Given the description of an element on the screen output the (x, y) to click on. 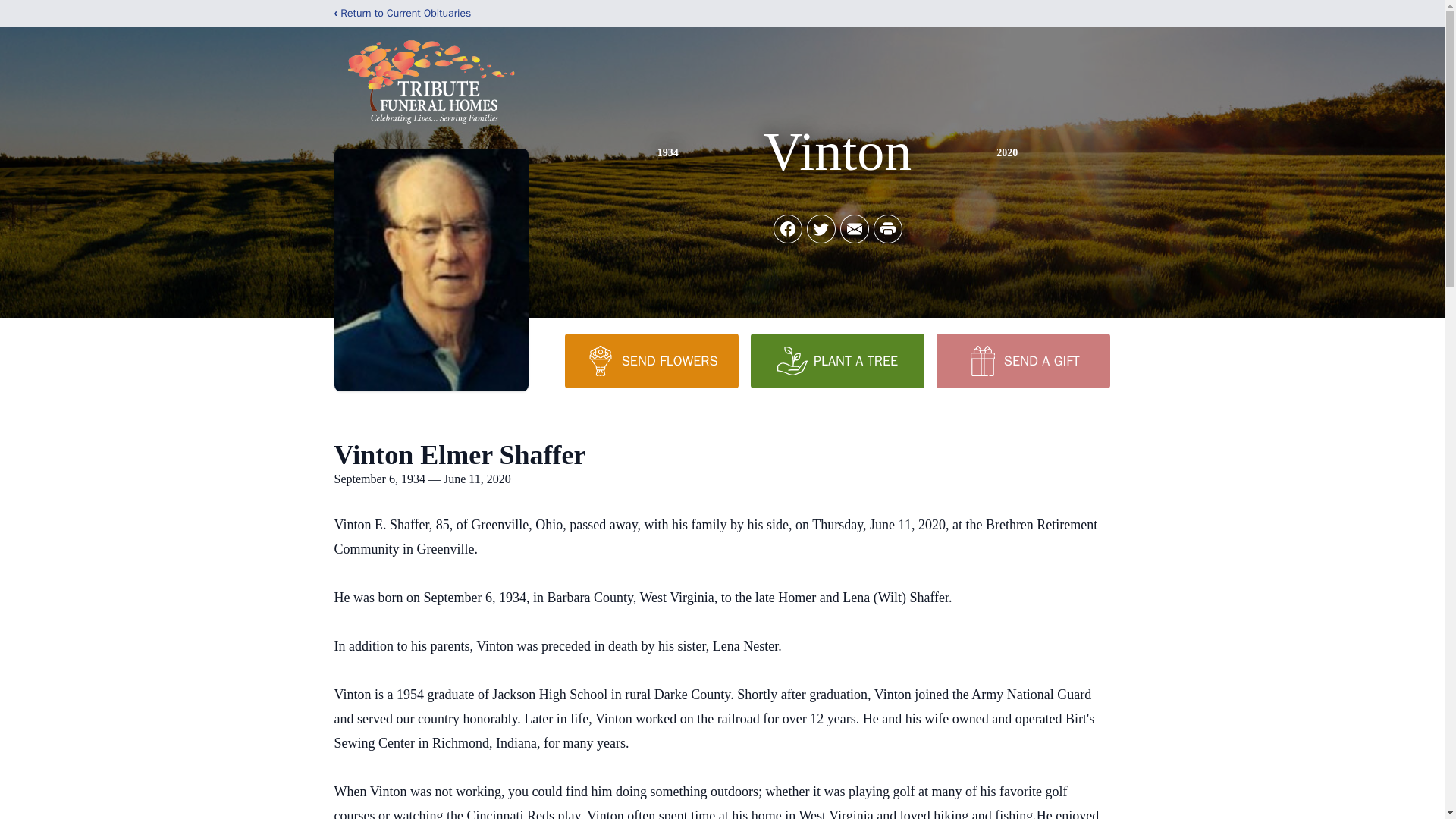
SEND FLOWERS (651, 360)
PLANT A TREE (837, 360)
SEND A GIFT (1022, 360)
